Given the description of an element on the screen output the (x, y) to click on. 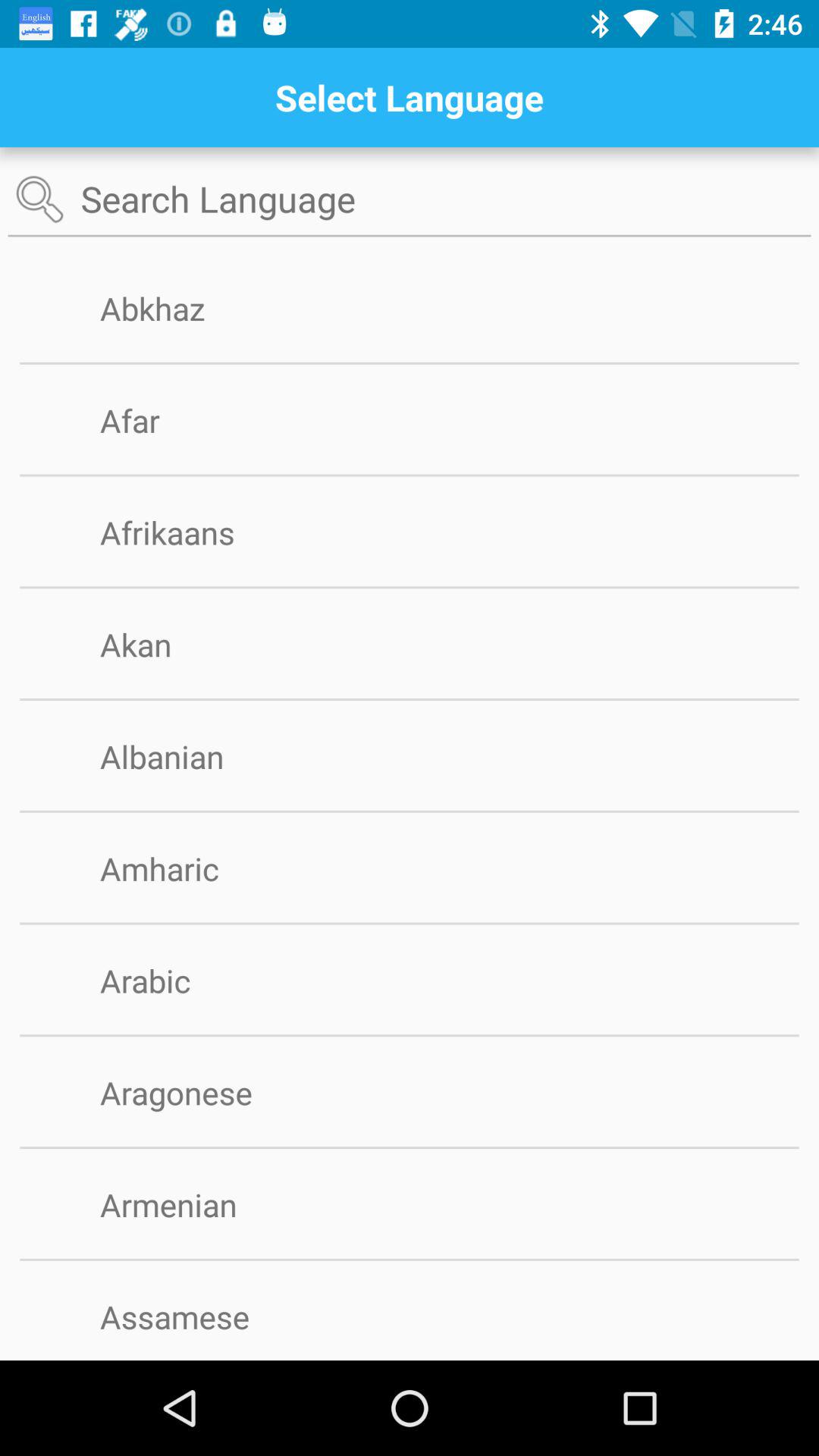
swipe to armenian item (192, 1204)
